Given the description of an element on the screen output the (x, y) to click on. 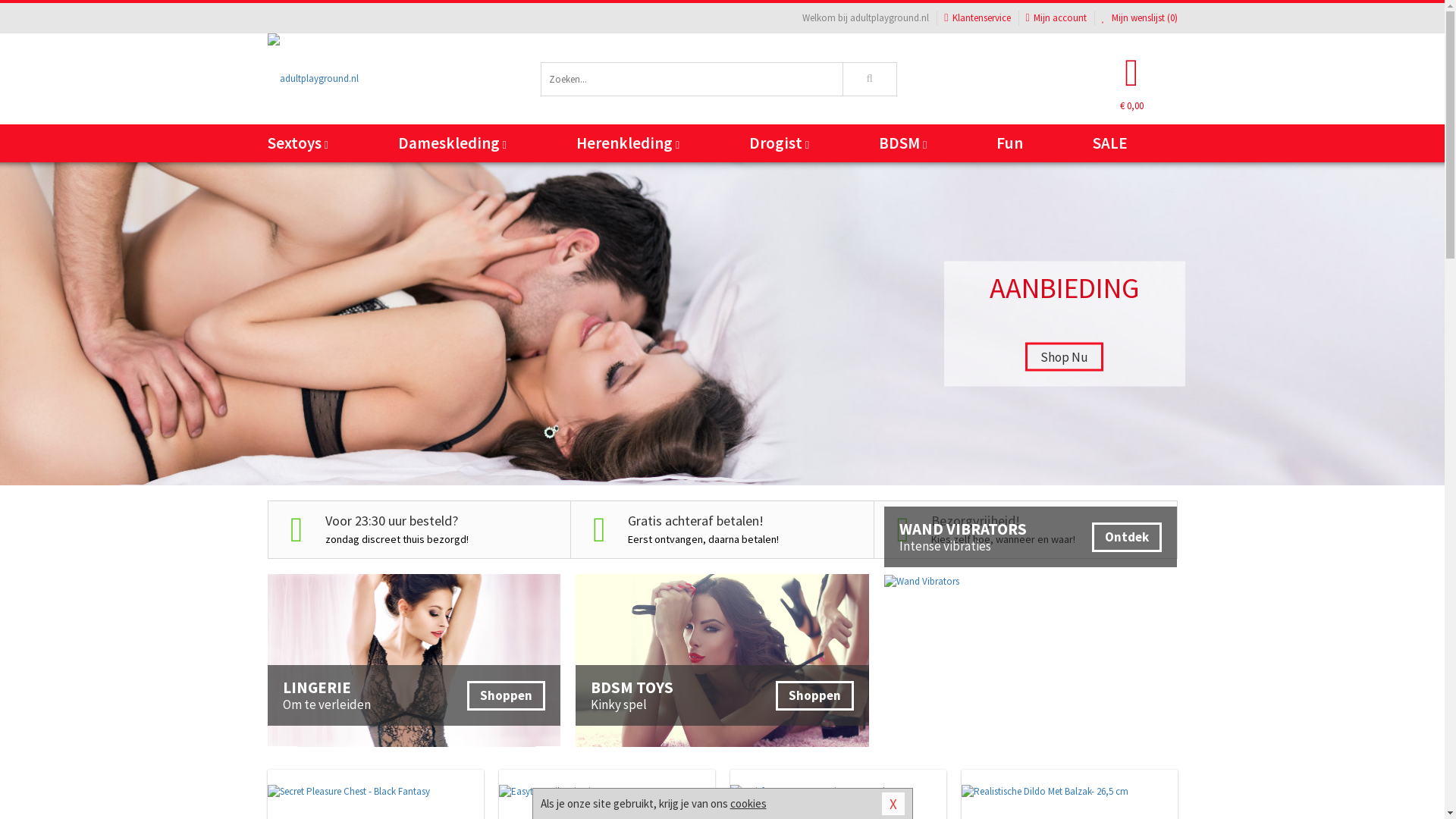
Penis Sleeves Element type: text (1014, 173)
Realistische Vibrators Element type: text (468, 173)
Dameskleding Element type: text (467, 143)
LINGERIE
Om te verleiden
Shoppen Element type: text (413, 660)
Klantenservice Element type: text (977, 18)
Dildo's Element type: text (604, 175)
WAND VIBRATORS
Intense vibraties
Ontdek Element type: text (1030, 581)
Kunst Kont Element type: text (741, 173)
Masturbators Element type: text (741, 175)
Drogist Element type: text (794, 143)
Mijn wenslijst (0) Element type: text (1139, 18)
Herenkleding Element type: text (642, 143)
BDSM Element type: text (917, 143)
Zoeken Element type: text (870, 79)
Accessoires Element type: text (1014, 175)
SALE Element type: text (1125, 143)
X Element type: text (892, 803)
Mijn account Element type: text (1055, 18)
BDSM TOYS
Kinky spel
Shoppen Element type: text (722, 660)
Sextoys Element type: text (321, 143)
Vibrators Element type: text (468, 175)
Fun Element type: text (1024, 143)
Buttplugs Standaard Element type: text (877, 173)
Anaal Dildo's Element type: text (604, 173)
cookies Element type: text (747, 803)
AANBIEDING
Shop Nu Element type: text (722, 323)
Anaal Speeltjes Element type: text (877, 175)
Lingerie Element type: hover (413, 660)
